Given the description of an element on the screen output the (x, y) to click on. 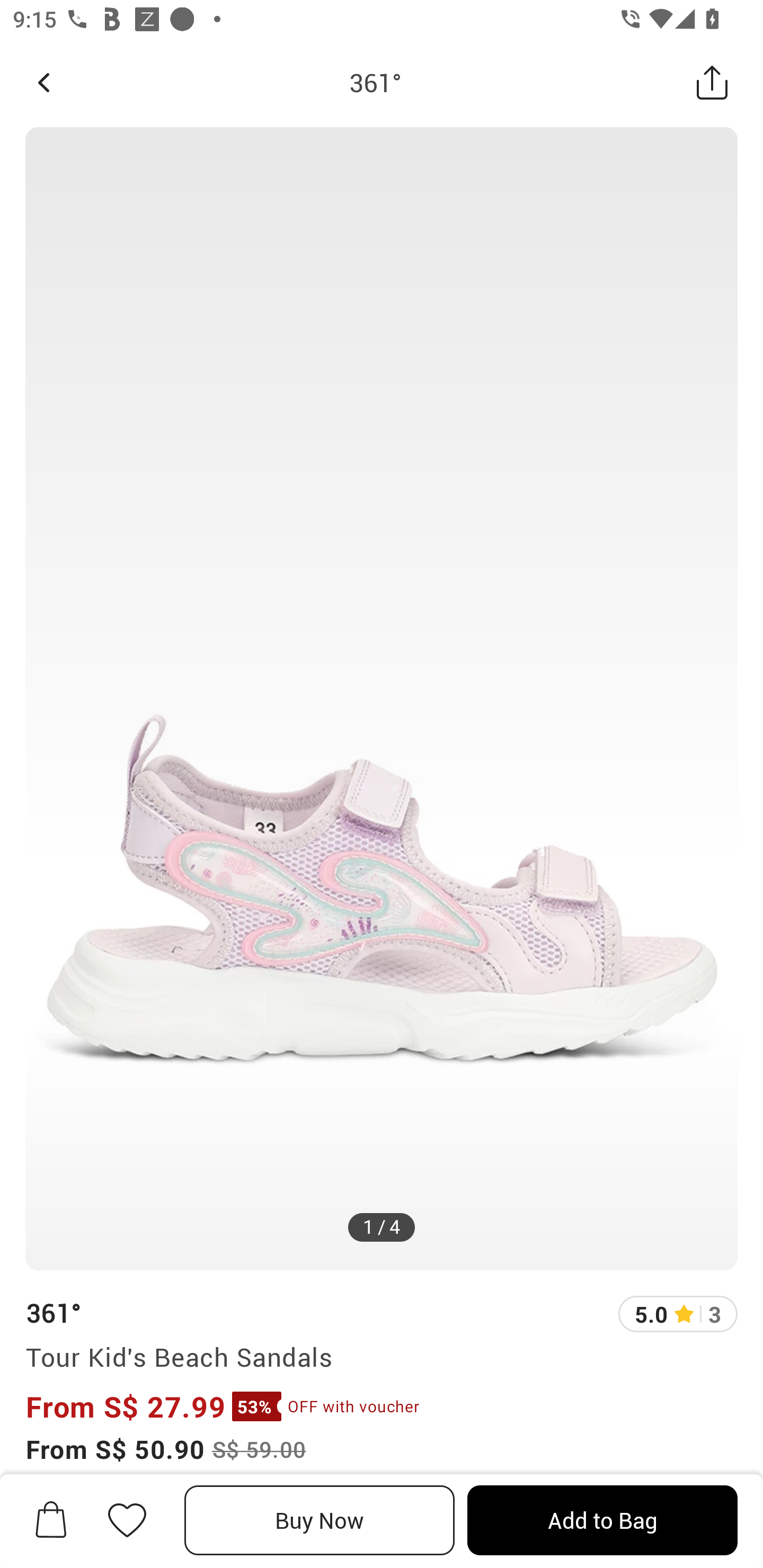
361° (375, 82)
Share this Product (711, 82)
361° (52, 1312)
5.0 3 (677, 1313)
Buy Now (319, 1519)
Add to Bag (601, 1519)
